Given the description of an element on the screen output the (x, y) to click on. 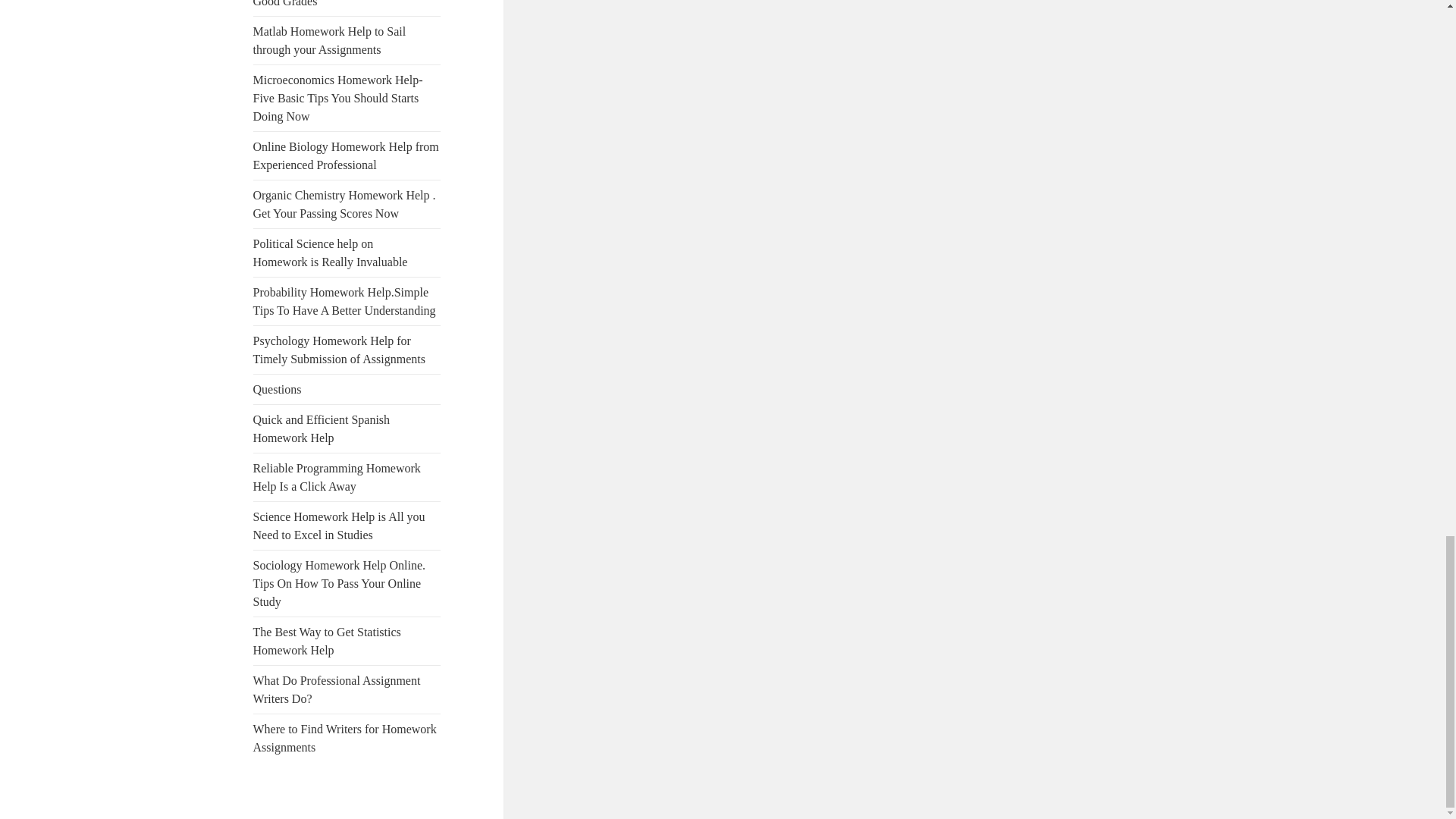
Matlab Homework Help to Sail through your Assignments (329, 40)
Macroeconomics Homework Help for Good Grades (345, 3)
Online Biology Homework Help from Experienced Professional (346, 155)
Political Science help on Homework is Really Invaluable (330, 252)
